Given the description of an element on the screen output the (x, y) to click on. 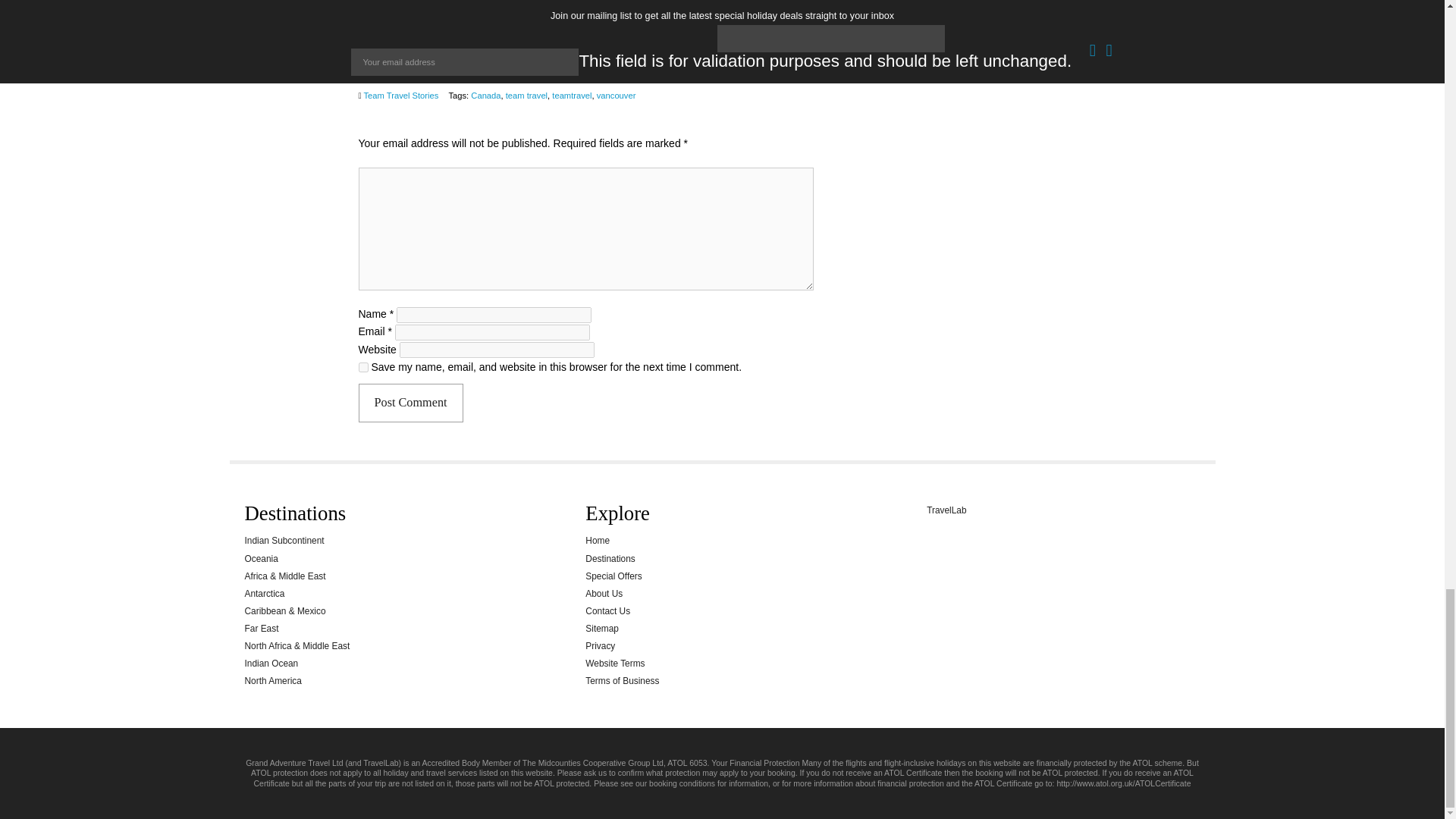
yes (363, 367)
Post Comment (410, 403)
